Given the description of an element on the screen output the (x, y) to click on. 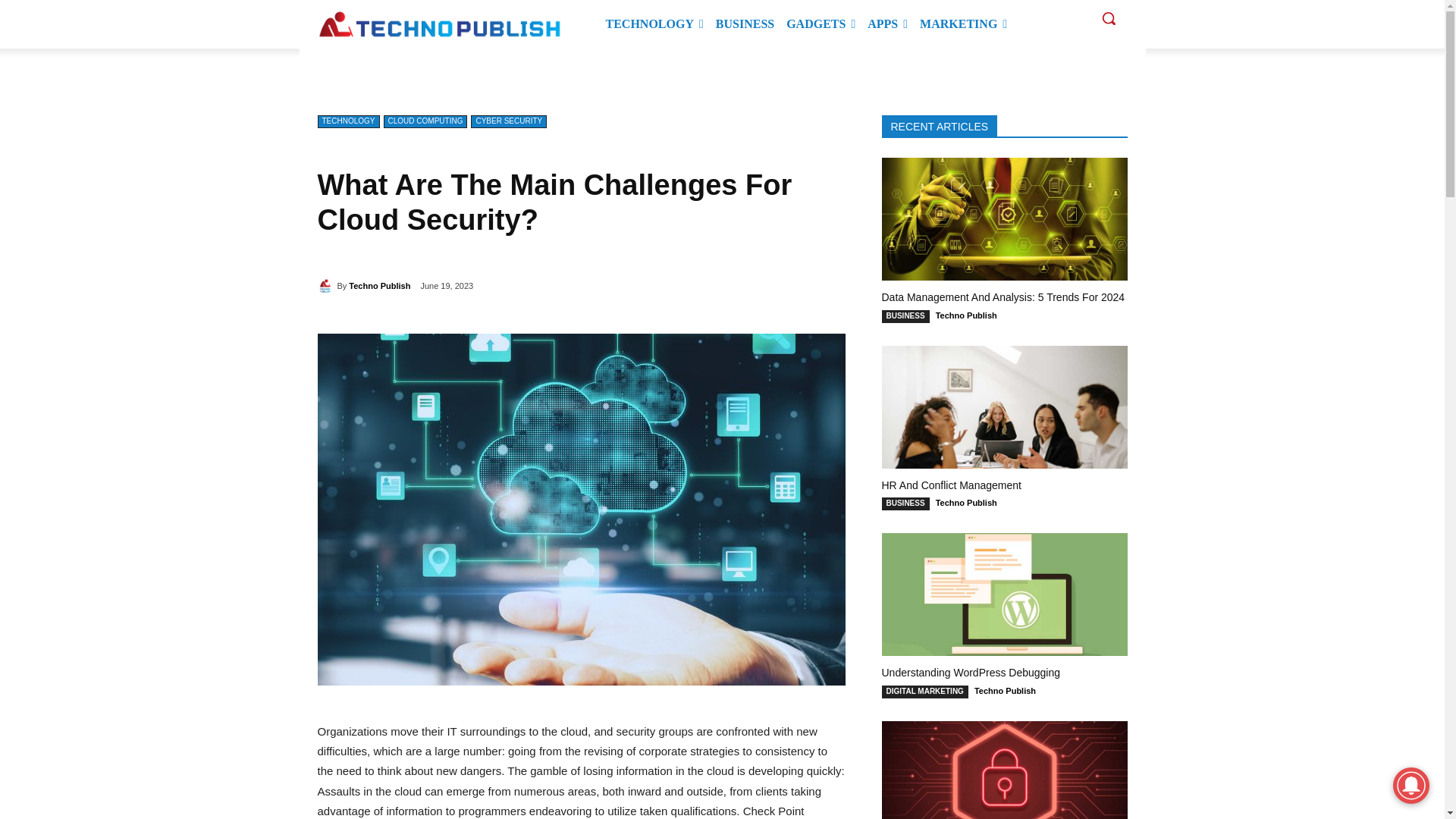
TECHNOLOGY (653, 24)
View all posts in TECHNOLOGY (382, 71)
View all posts in CLOUD COMPUTING (470, 71)
